Given the description of an element on the screen output the (x, y) to click on. 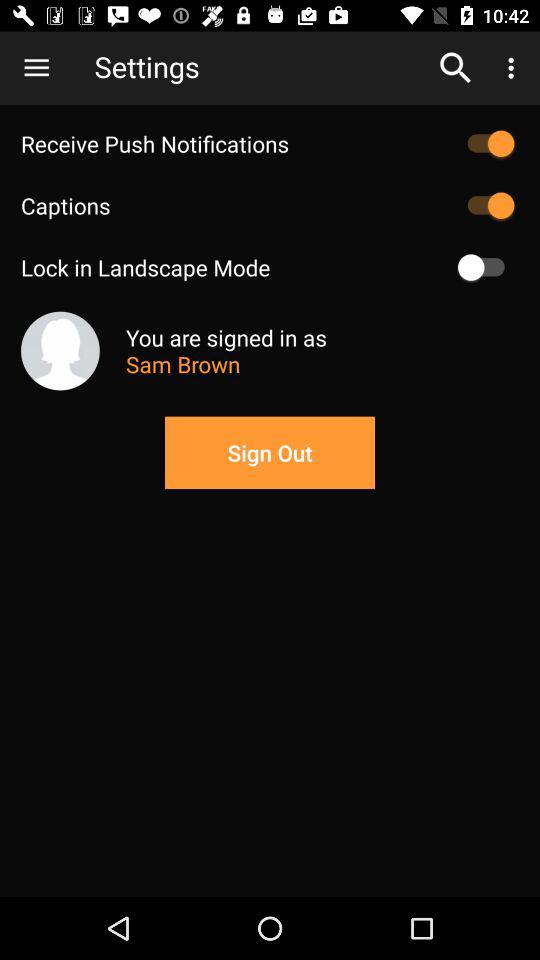
click on the slider which is beside captions (485, 205)
click the button right to the receive push notifications (485, 143)
click on the button to the left of lock in landscape mode text (485, 267)
go to settings (259, 67)
select sign out button on the page (269, 452)
